Given the description of an element on the screen output the (x, y) to click on. 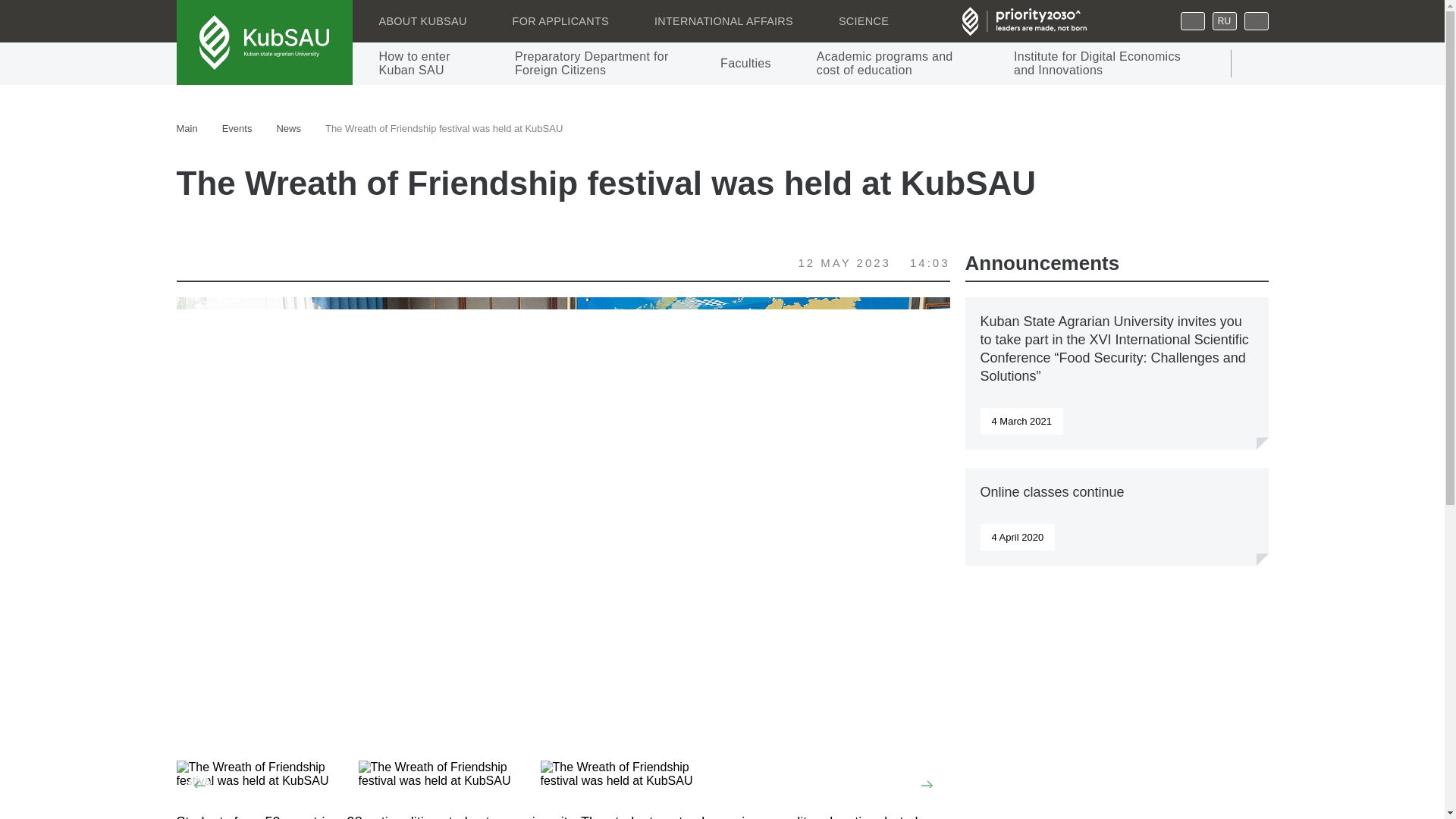
The Wreath of Friendship festival was held at KubSAU (631, 773)
INTERNATIONAL AFFAIRS (724, 21)
FOR APPLICANTS (560, 21)
Academic programs and cost of education (892, 63)
RU (1223, 21)
SCIENCE (863, 21)
The Wreath of Friendship festival was held at KubSAU (267, 773)
Faculties (746, 63)
Institute for Digital Economics and Innovations (1097, 63)
The Wreath of Friendship festival was held at KubSAU (449, 773)
ABOUT KUBSAU (421, 21)
How to enter Kuban SAU (423, 63)
Preparatory Department for Foreign Citizens (594, 63)
